Given the description of an element on the screen output the (x, y) to click on. 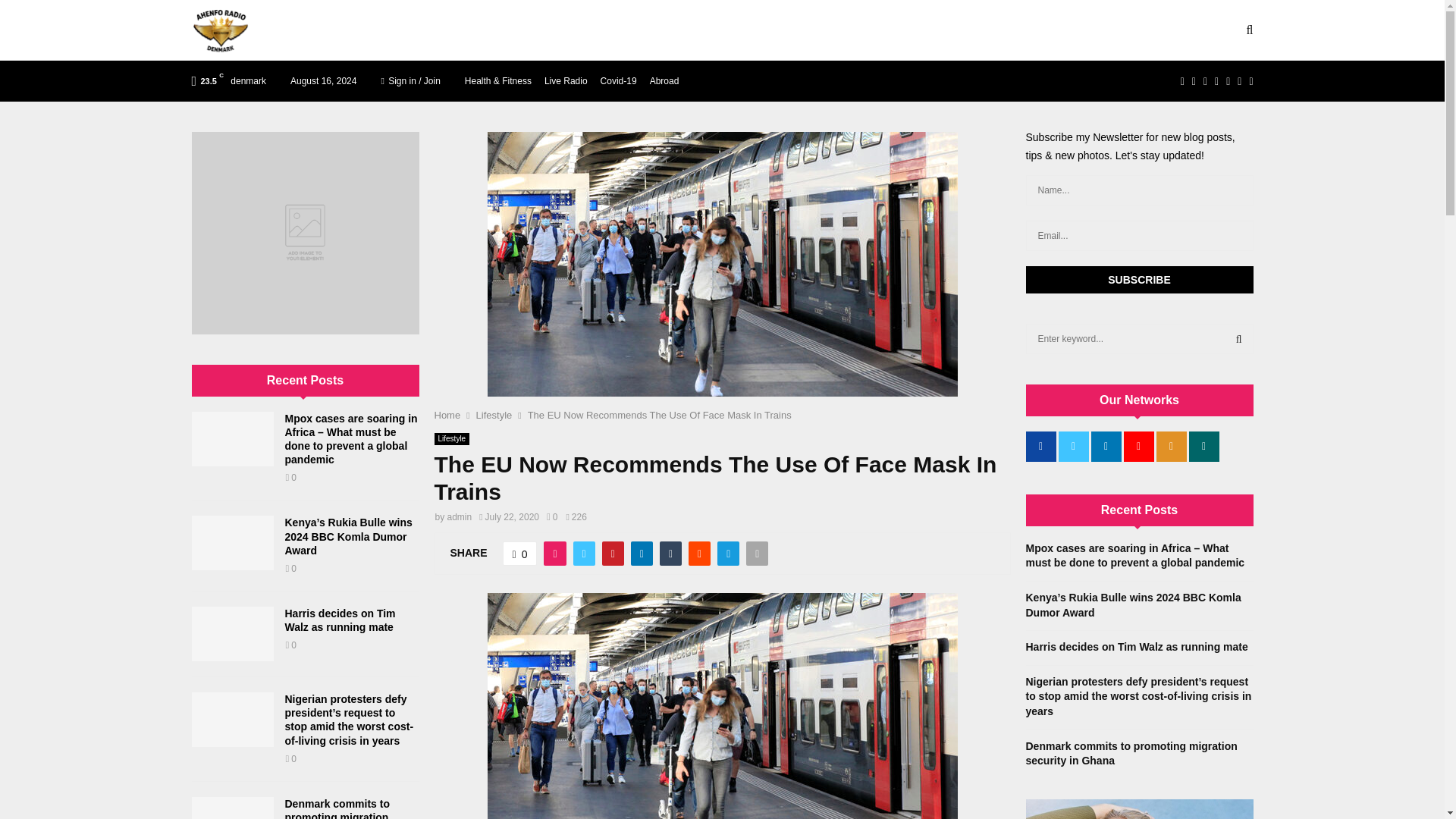
Subscribe (1138, 279)
LIFE STYLE (472, 30)
CELEB NEWS (375, 30)
